Given the description of an element on the screen output the (x, y) to click on. 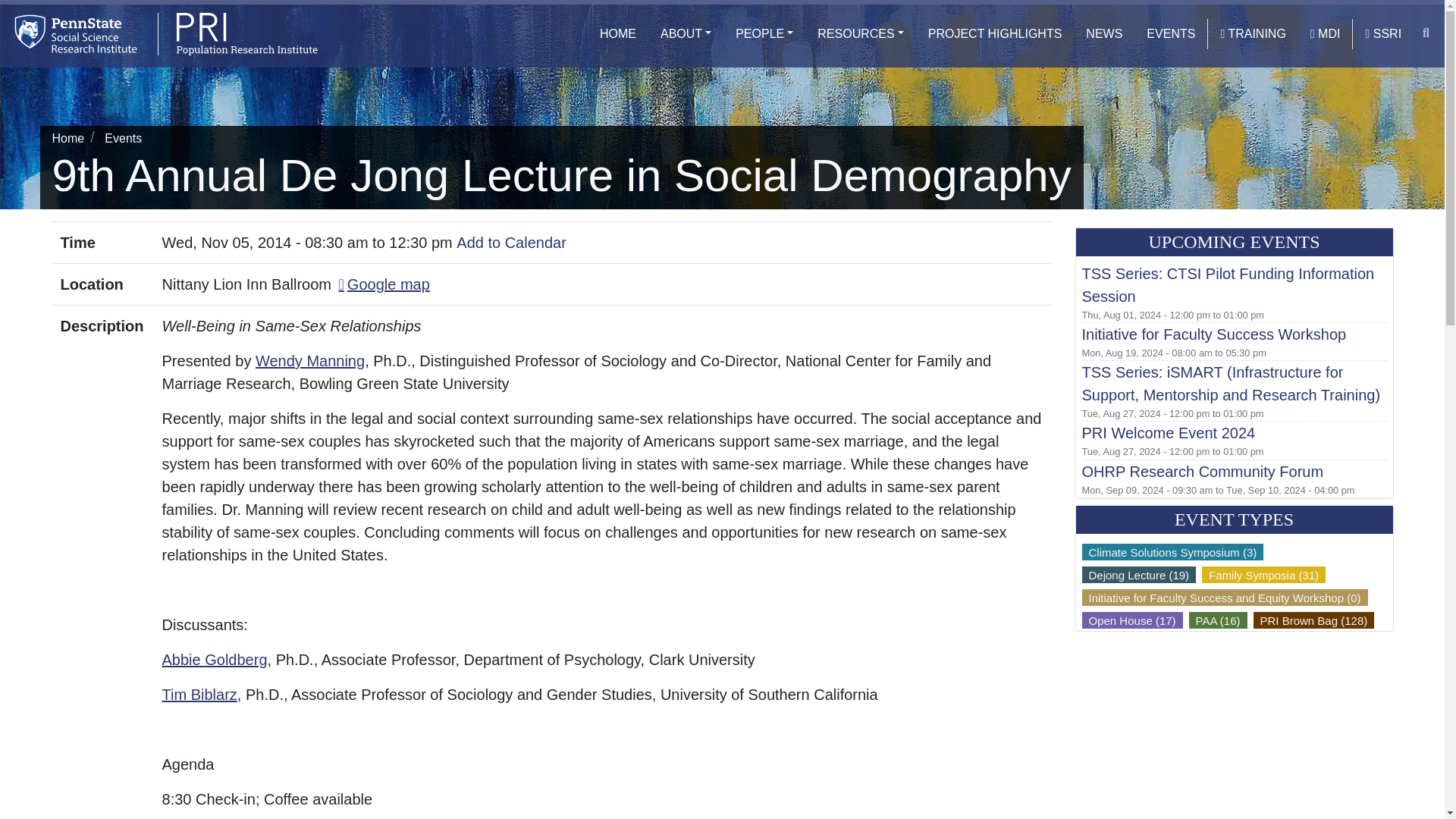
SSRI (1382, 33)
PROJECT HIGHLIGHTS (994, 33)
MDI (1325, 33)
Home (67, 137)
EVENTS (1170, 33)
Add to Calendar (511, 241)
NEWS (1104, 33)
ABOUT (685, 33)
HOME (617, 33)
TRAINING (1252, 33)
PEOPLE (764, 33)
Events (122, 137)
RESOURCES (860, 33)
